Given the description of an element on the screen output the (x, y) to click on. 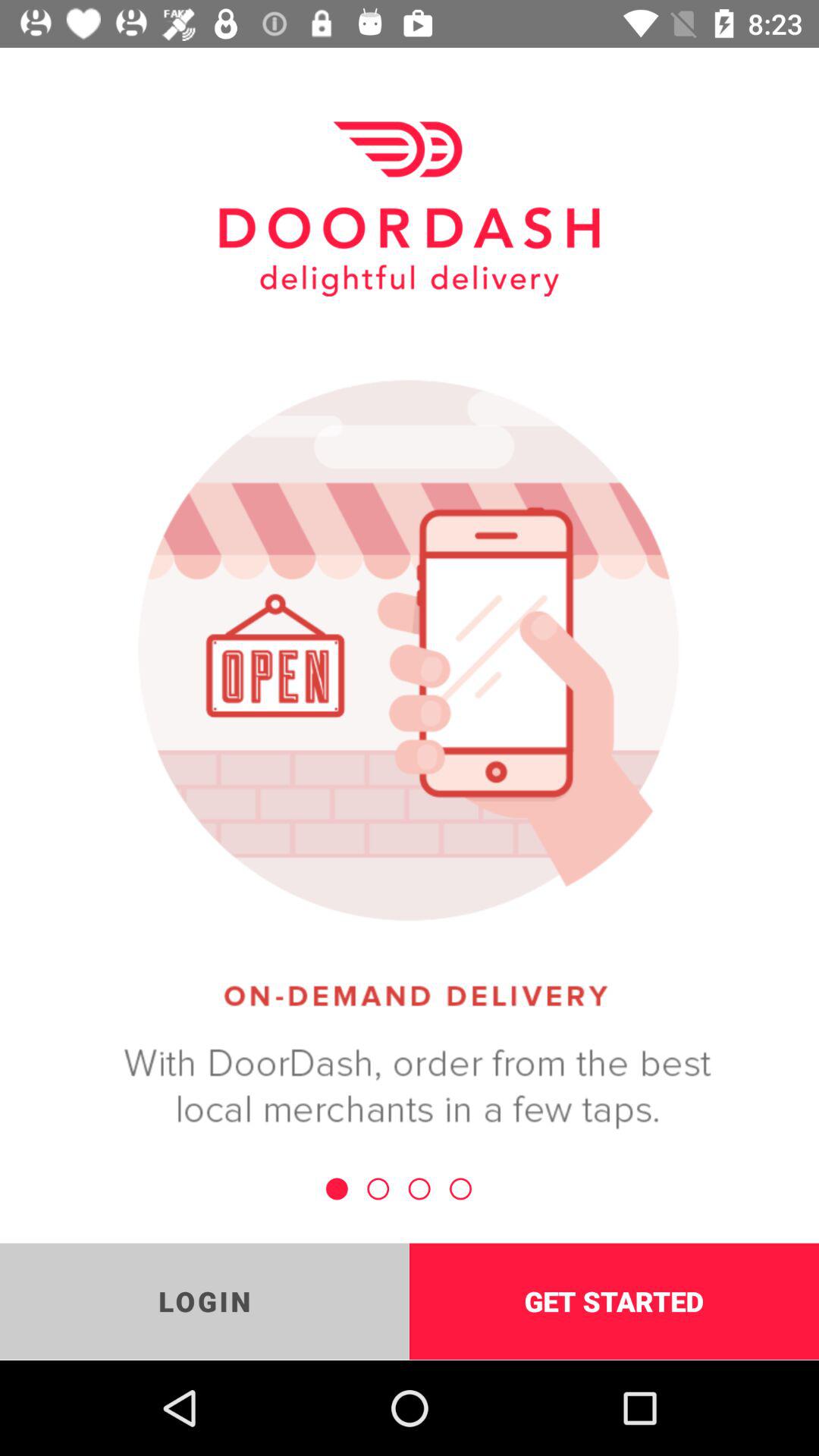
turn off item to the left of get started item (204, 1301)
